Given the description of an element on the screen output the (x, y) to click on. 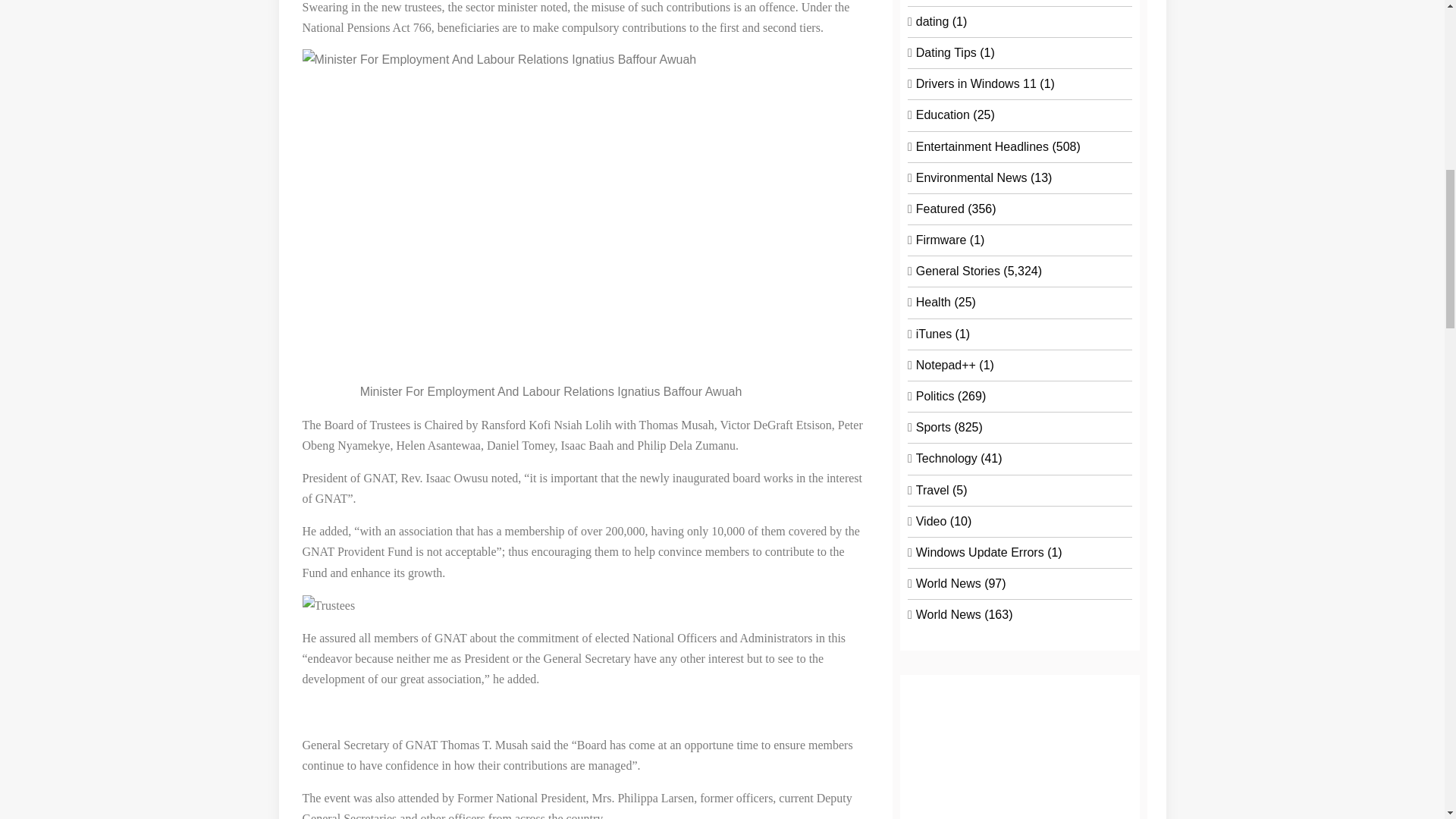
Trustees (328, 605)
